Given the description of an element on the screen output the (x, y) to click on. 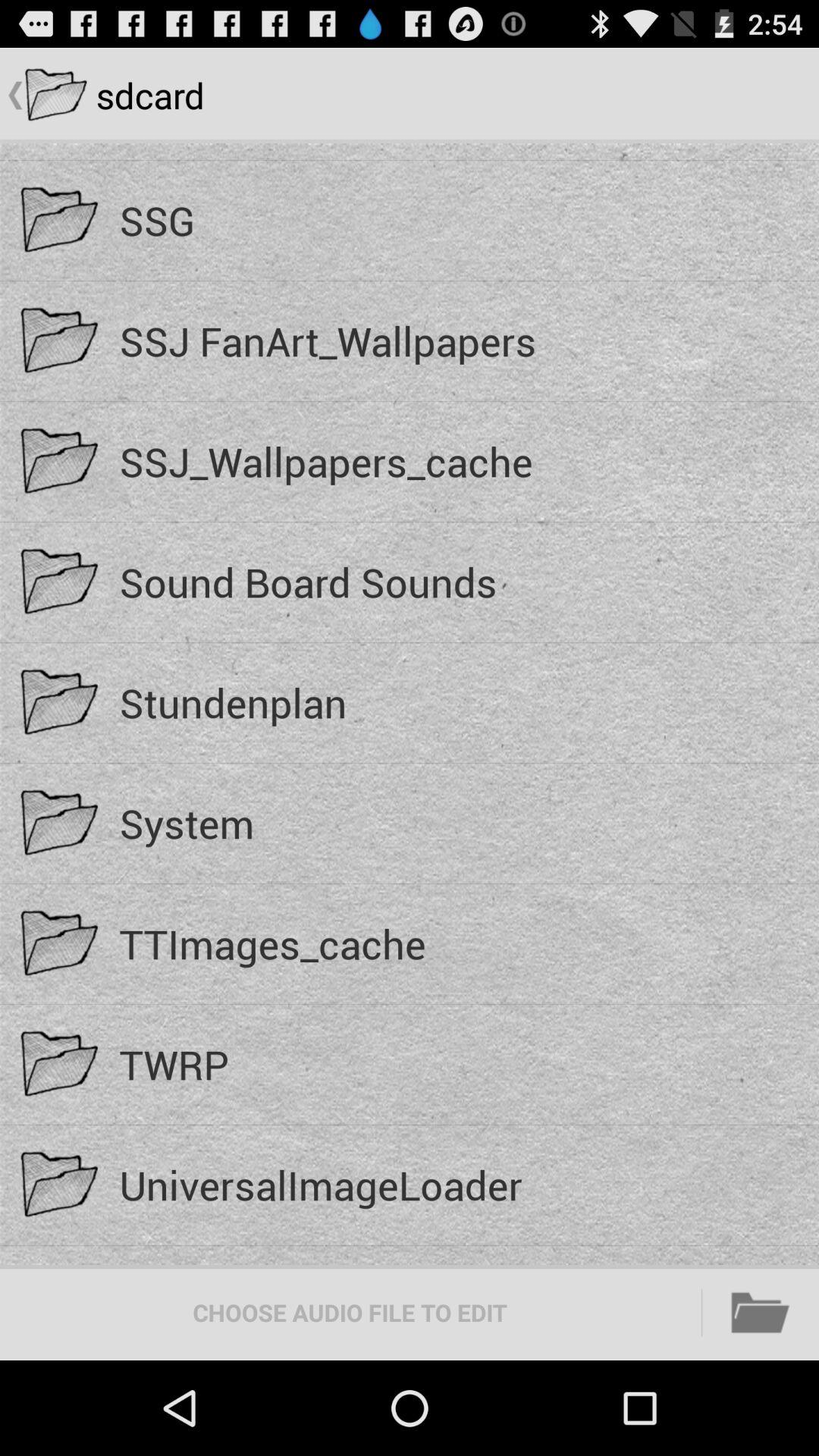
select the choose audio file icon (349, 1312)
